Given the description of an element on the screen output the (x, y) to click on. 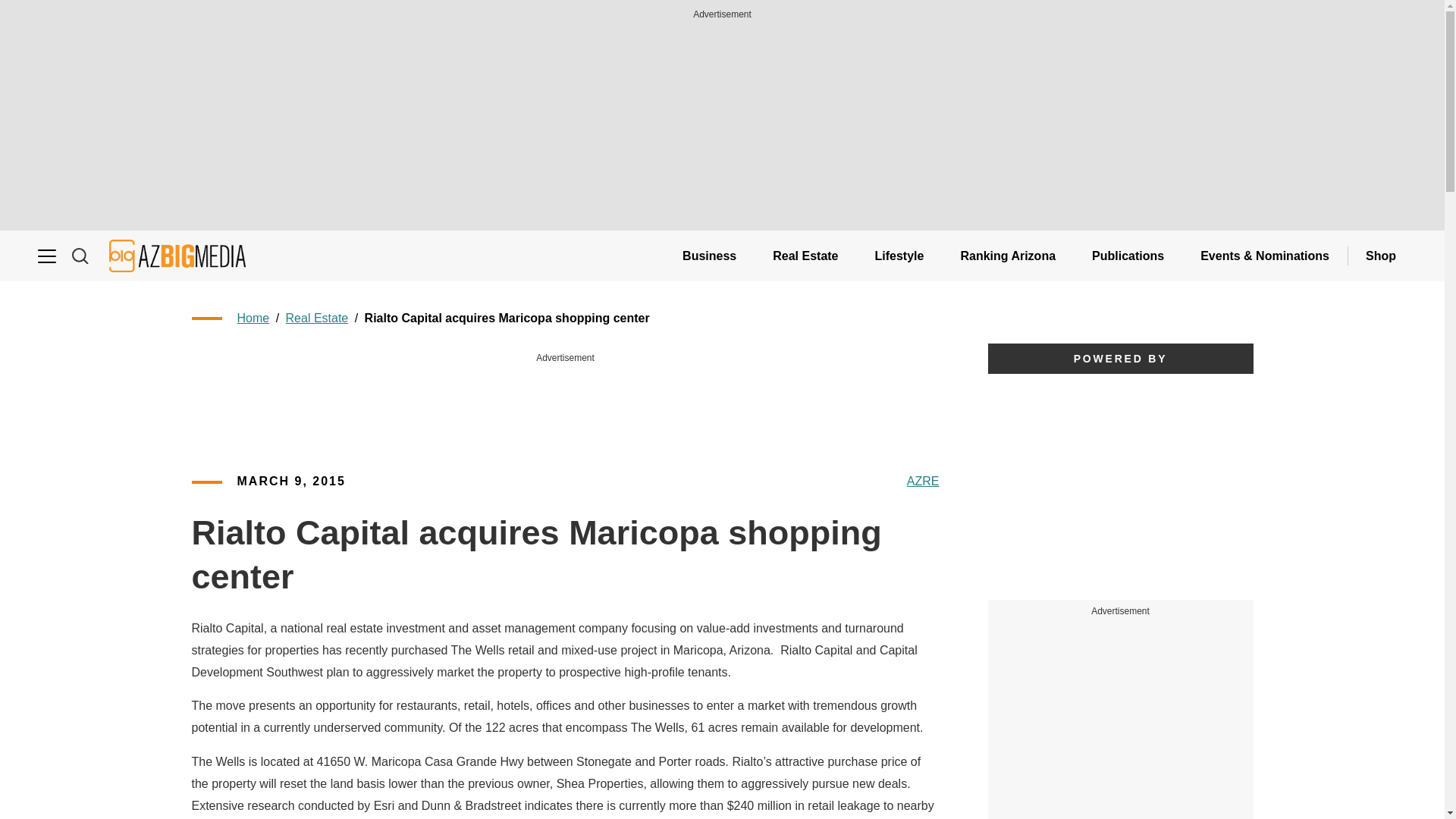
3rd party ad content (1119, 486)
Posts by AZRE (923, 481)
AZ Big Media Logo (177, 255)
3rd party ad content (565, 400)
Business (708, 255)
3rd party ad content (1120, 717)
